Given the description of an element on the screen output the (x, y) to click on. 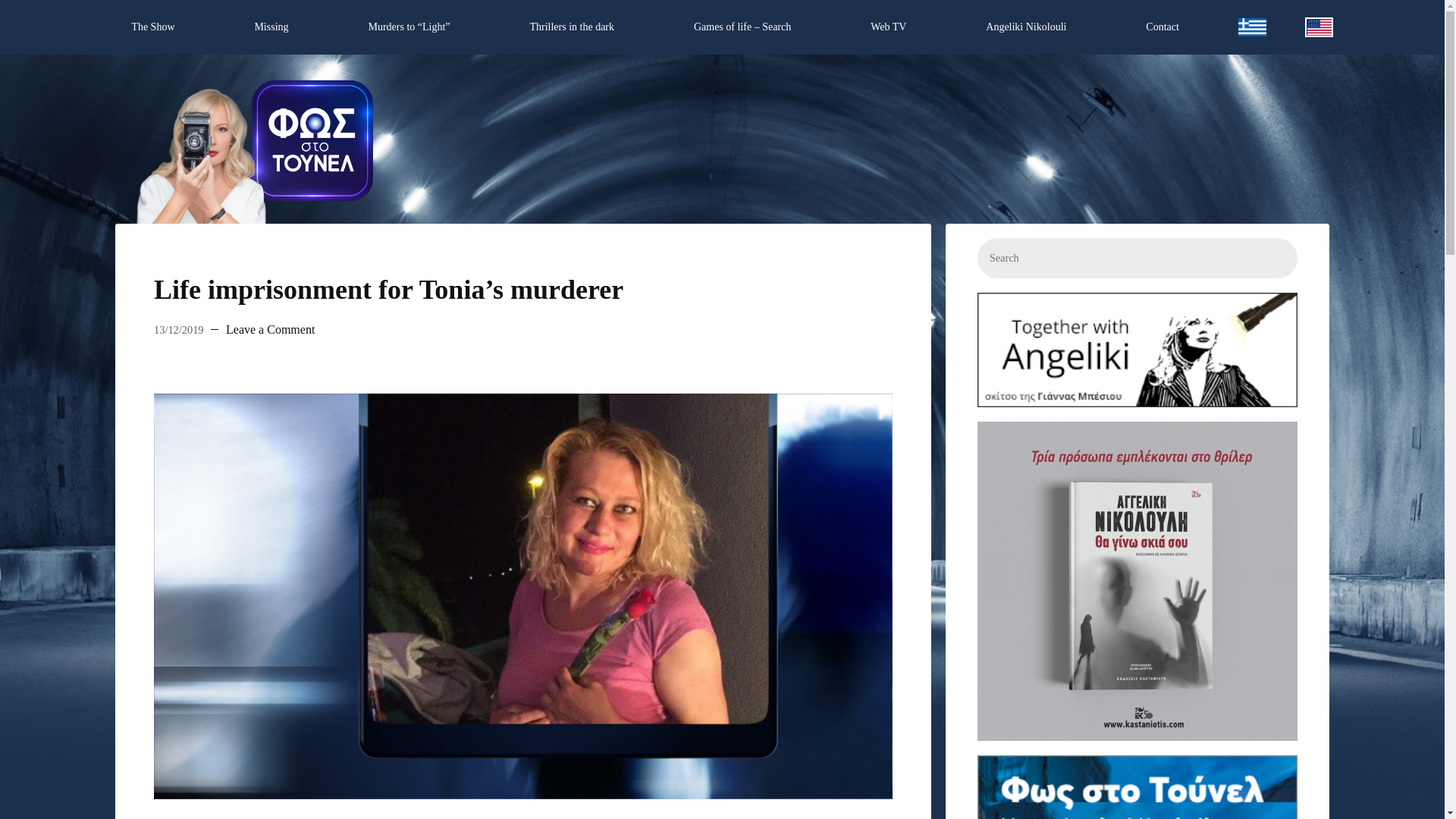
Angeliki Nikolouli (1026, 27)
Missing (270, 27)
Web TV (888, 27)
The Show (152, 27)
Thrillers in the dark (571, 27)
